Given the description of an element on the screen output the (x, y) to click on. 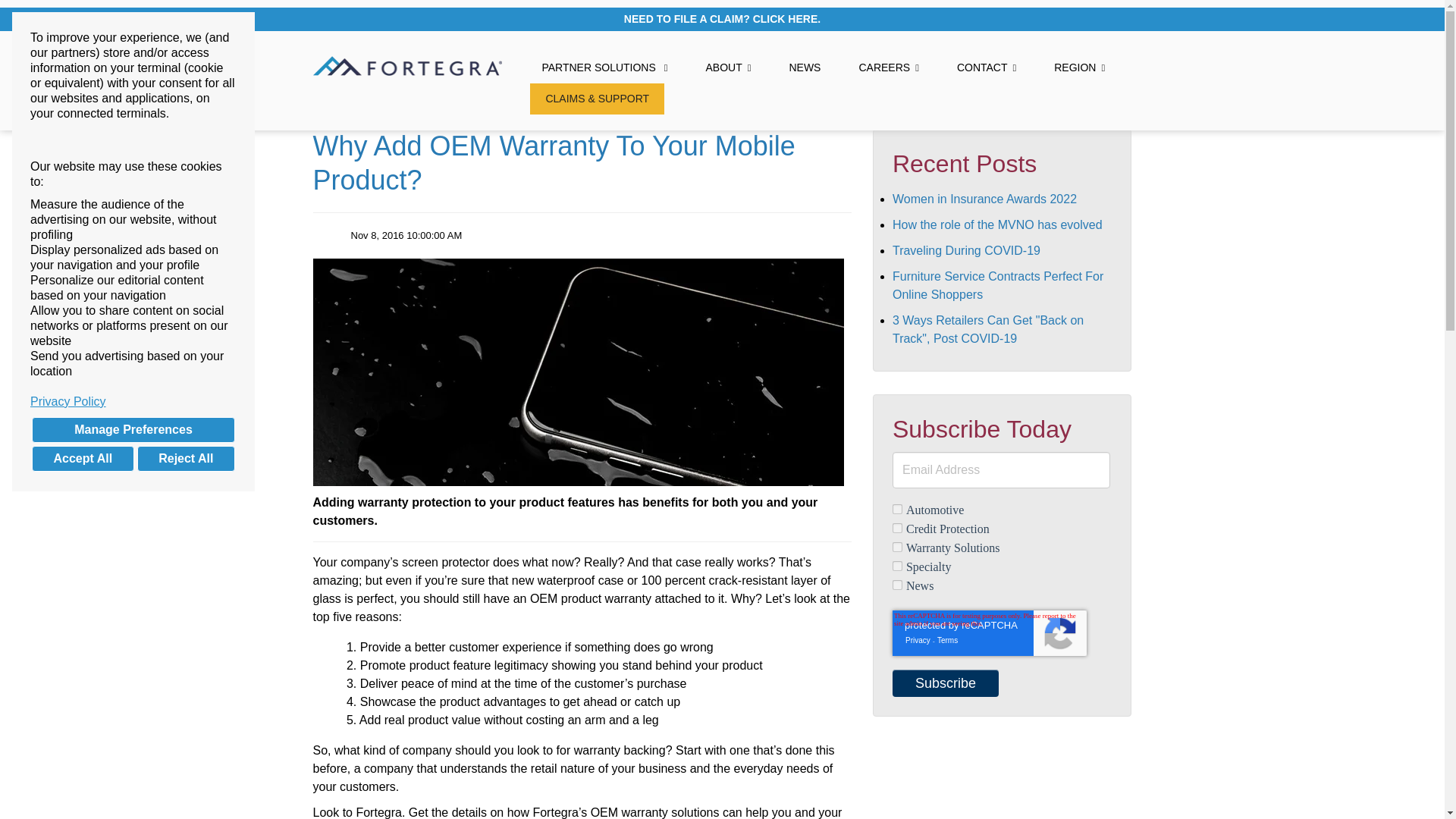
Reject All (185, 458)
NEWS (804, 67)
PARTNER SOLUTIONS (603, 67)
Warranty (897, 547)
CAREERS (888, 67)
CONTACT (985, 67)
reCAPTCHA (989, 633)
Accept All (82, 458)
ABOUT (727, 67)
Waterproof case.jpg (578, 371)
Privacy Policy (132, 401)
Specialty (897, 565)
Automotive (897, 509)
News (897, 584)
Credit Protection (897, 528)
